Given the description of an element on the screen output the (x, y) to click on. 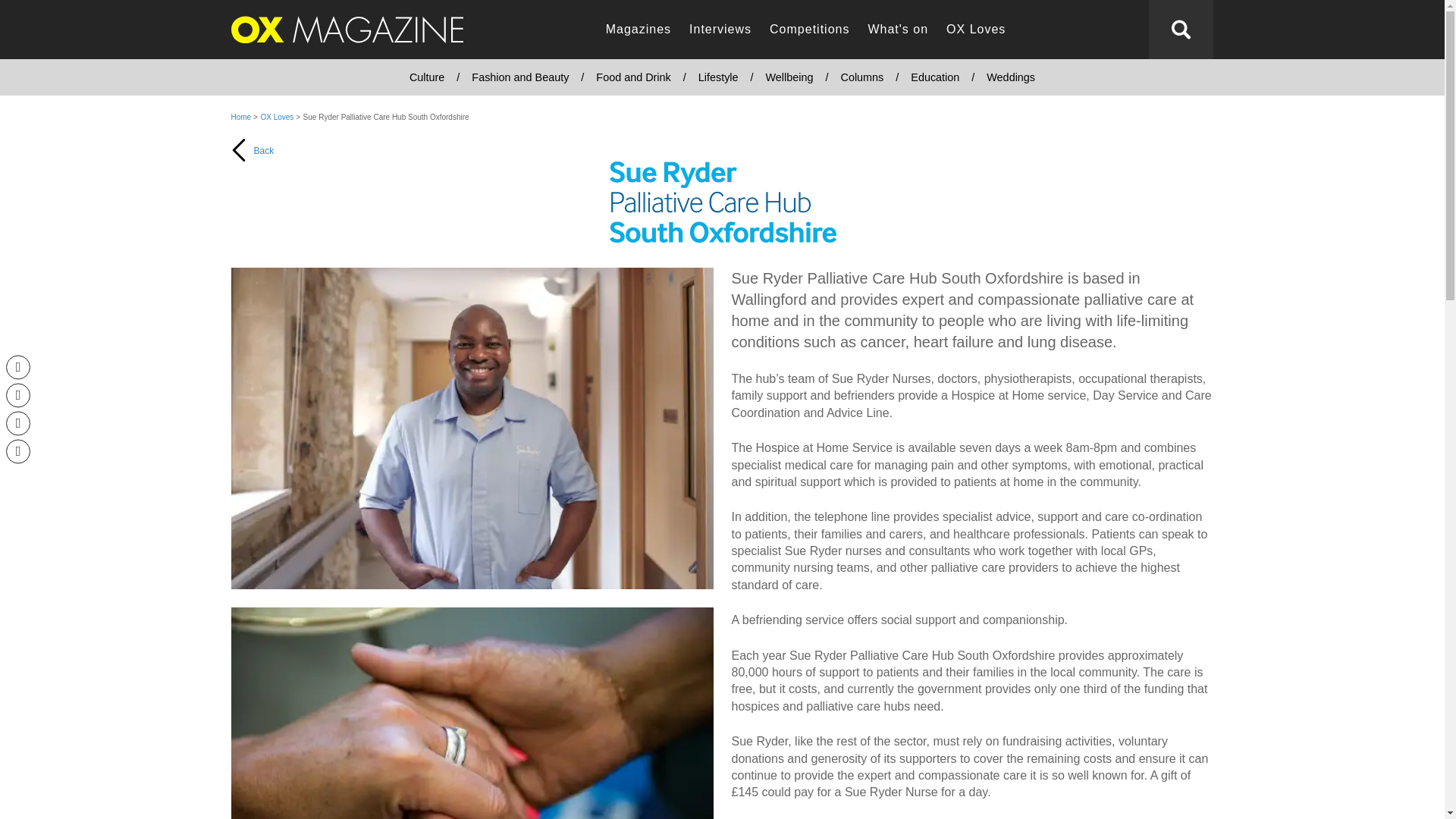
Home (240, 117)
Weddings (1010, 77)
Education (934, 77)
Columns (861, 77)
Competitions (809, 29)
OX Loves (975, 29)
Interviews (719, 29)
Back (346, 202)
What's on (898, 29)
Wellbeing (789, 77)
Fashion and Beauty (520, 77)
Magazines (637, 29)
OX Loves (277, 117)
Food and Drink (632, 77)
Lifestyle (718, 77)
